Given the description of an element on the screen output the (x, y) to click on. 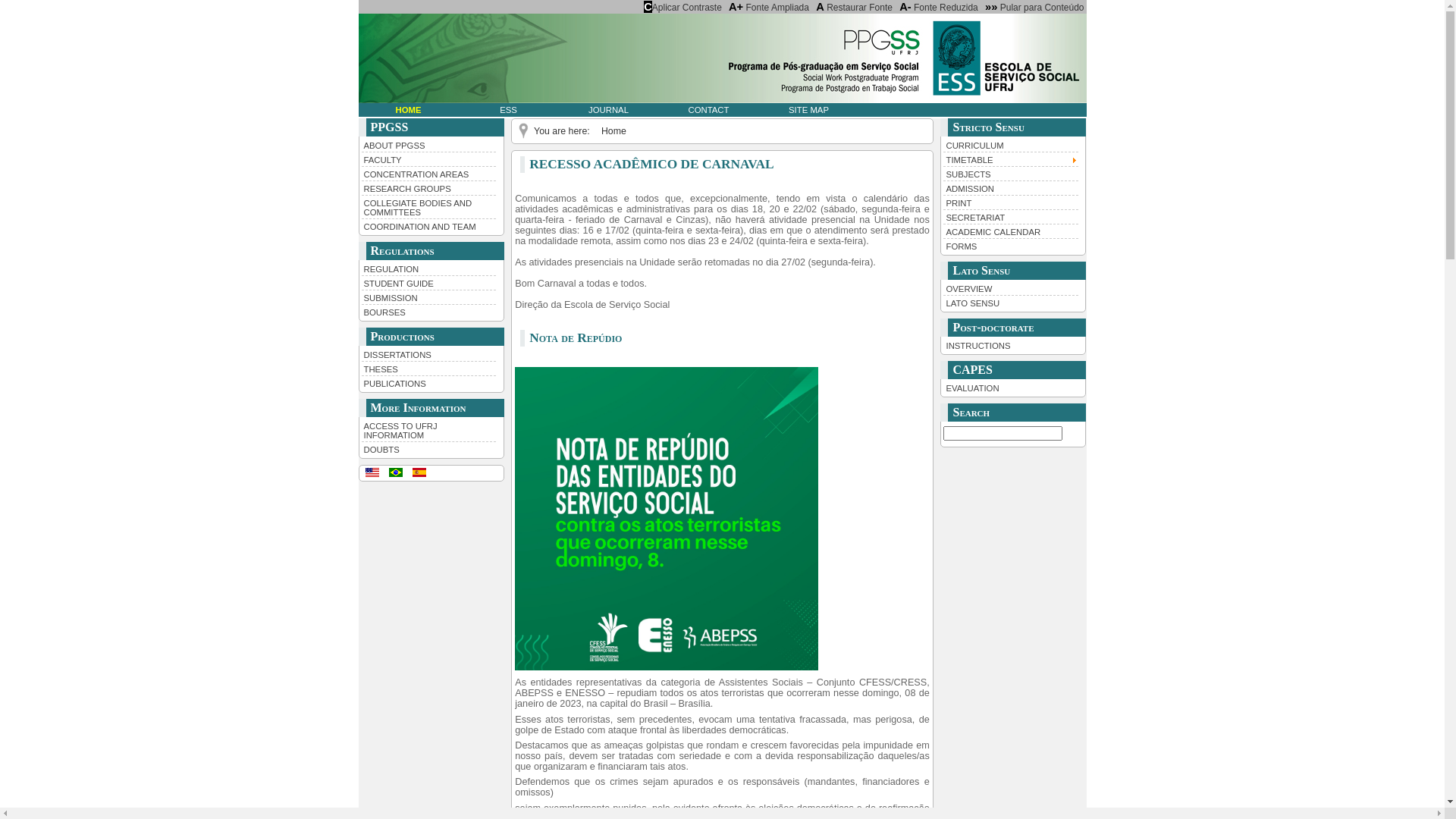
SUBJECTS Element type: text (1010, 173)
INSTRUCTIONS Element type: text (1010, 344)
CONTACT Element type: text (708, 109)
STUDENT GUIDE Element type: text (427, 282)
RESEARCH GROUPS Element type: text (427, 187)
TIMETABLE Element type: text (1010, 158)
English-US Element type: hover (372, 471)
HOME Element type: text (407, 109)
LATO SENSU Element type: text (1010, 301)
PRINT Element type: text (1010, 201)
DOUBTS Element type: text (427, 448)
REGULATION Element type: text (427, 268)
EVALUATION Element type: text (1010, 387)
CURRICULUM Element type: text (1010, 144)
SUBMISSION Element type: text (427, 296)
ESS Element type: text (508, 109)
ABOUT PPGSS Element type: text (427, 144)
COLLEGIATE BODIES AND COMMITTEES Element type: text (427, 206)
CAplicar Contraste Element type: text (682, 6)
PUBLICATIONS Element type: text (427, 382)
OVERVIEW Element type: text (1010, 287)
BOURSES Element type: text (427, 311)
ACADEMIC CALENDAR Element type: text (1010, 230)
A Restaurar Fonte Element type: text (853, 6)
FORMS Element type: text (1010, 245)
COORDINATION AND TEAM Element type: text (427, 225)
DISSERTATIONS Element type: text (427, 353)
A- Fonte Reduzida Element type: text (938, 6)
A+ Fonte Ampliada Element type: text (768, 6)
FACULTY Element type: text (427, 158)
CONCENTRATION AREAS Element type: text (427, 173)
JOURNAL Element type: text (608, 109)
THESES Element type: text (427, 367)
SITE MAP Element type: text (808, 109)
ADMISSION Element type: text (1010, 187)
ACCESS TO UFRJ INFORMATIOM Element type: text (427, 429)
SECRETARIAT Element type: text (1010, 216)
